Given the description of an element on the screen output the (x, y) to click on. 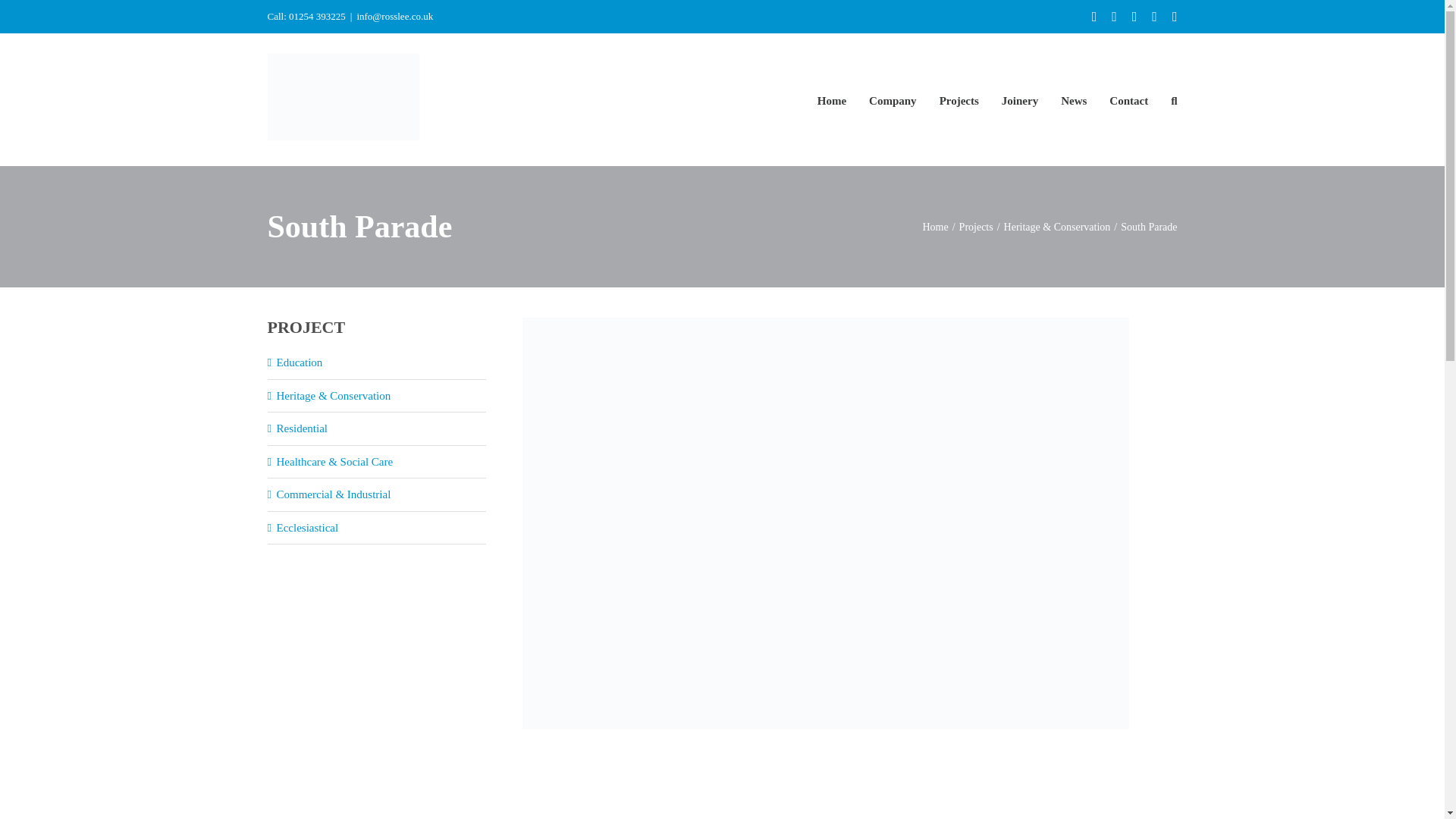
X (1134, 16)
Instagram (1154, 16)
Joinery (1019, 99)
Facebook (1114, 16)
Projects (975, 226)
YouTube (1174, 16)
Home (934, 226)
Residential (301, 428)
LinkedIn (1094, 16)
YouTube (1174, 16)
Instagram (1154, 16)
Home (830, 99)
Contact (1128, 99)
Facebook (1114, 16)
